Given the description of an element on the screen output the (x, y) to click on. 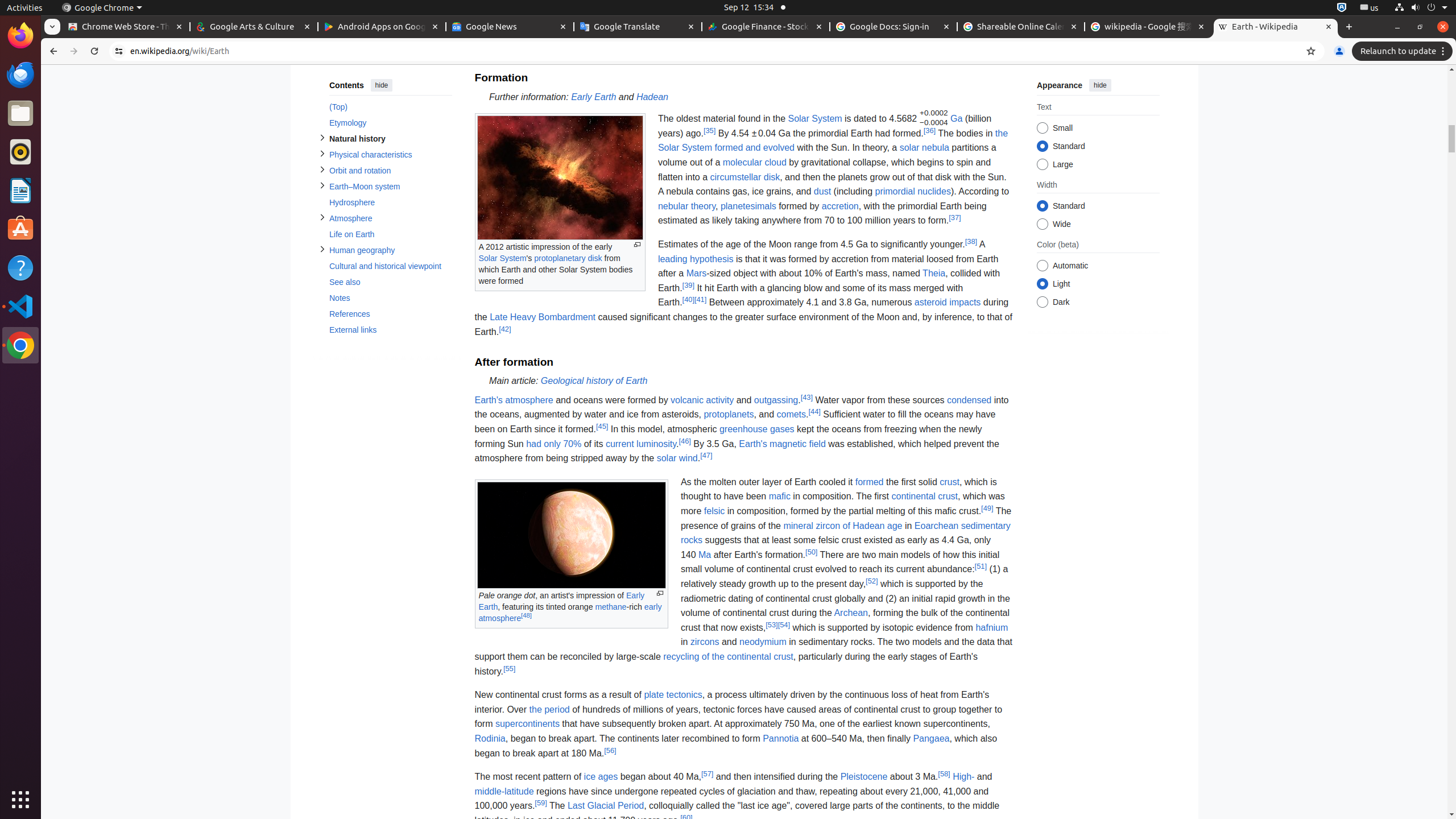
mineral zircon of Hadean age Element type: link (842, 525)
ice ages Element type: link (600, 776)
hafnium Element type: link (991, 627)
Google News - Memory usage - 55.3 MB Element type: page-tab (509, 26)
Orbit and rotation Element type: link (390, 170)
